Given the description of an element on the screen output the (x, y) to click on. 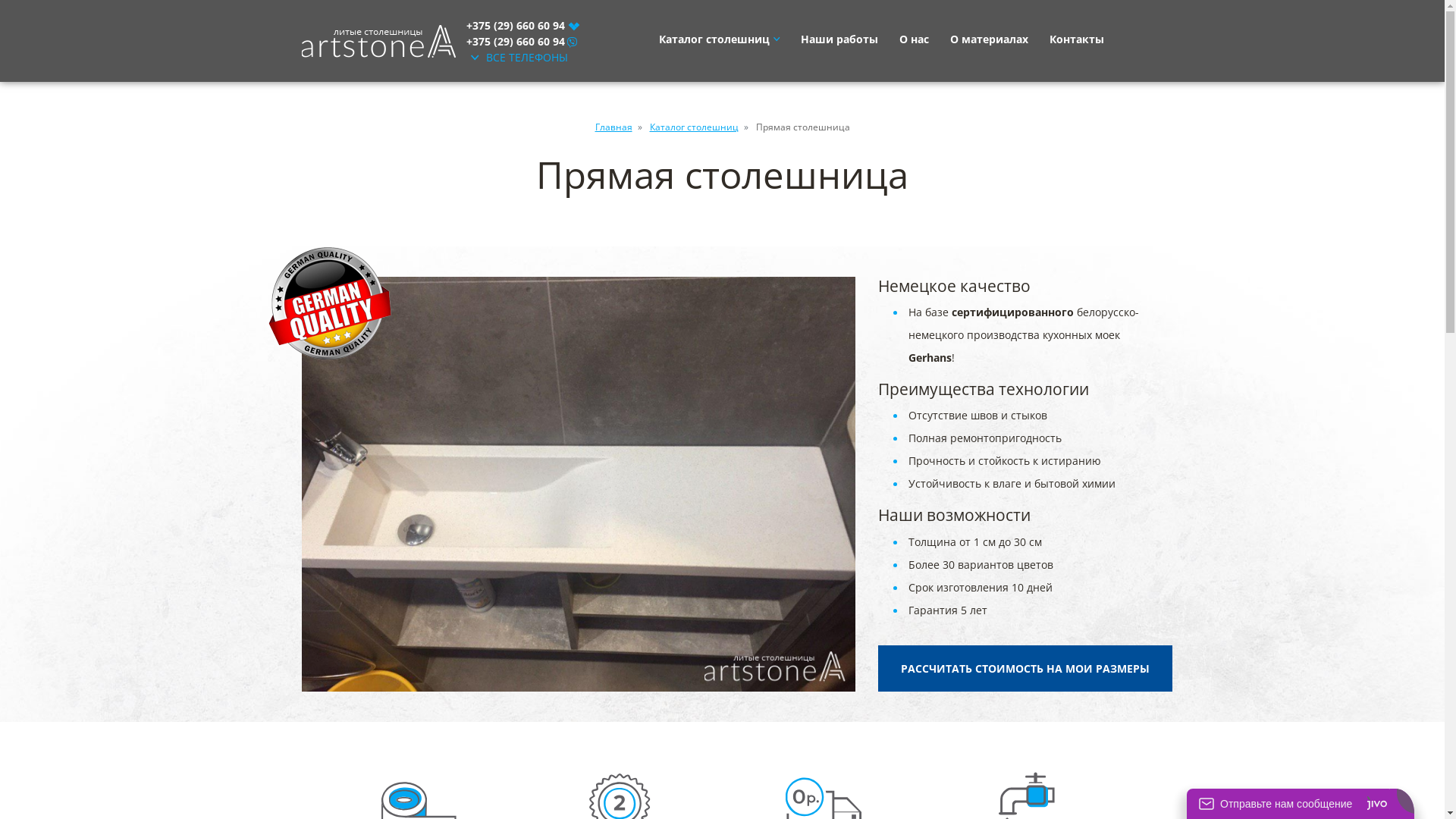
+375 (29) 660 60 94 Element type: text (522, 24)
+375 (29) 660 60 94 Element type: text (520, 41)
